Given the description of an element on the screen output the (x, y) to click on. 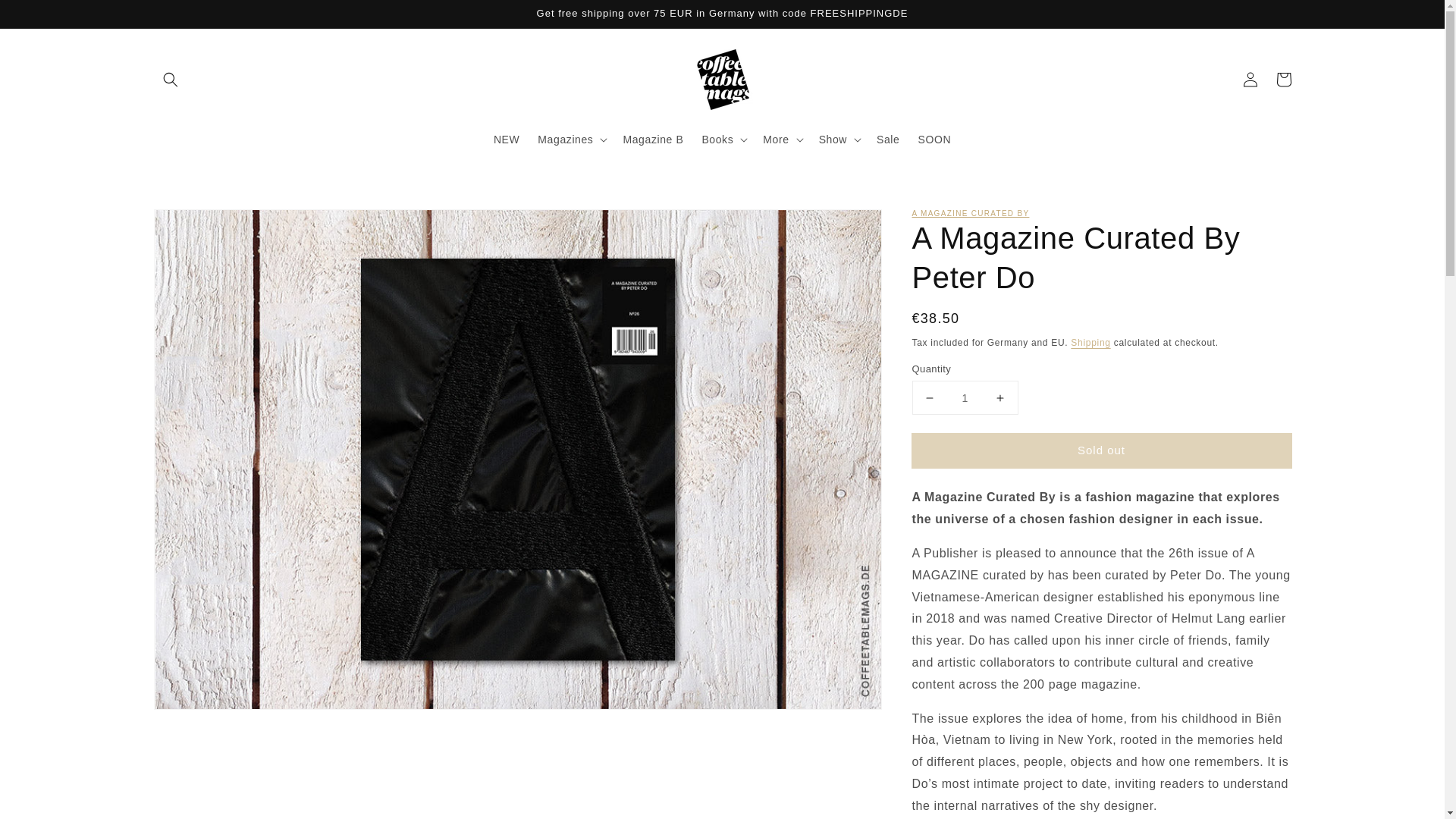
1 (964, 397)
NEW (506, 139)
A Magazine curated by (970, 213)
Skip to content (45, 16)
